Given the description of an element on the screen output the (x, y) to click on. 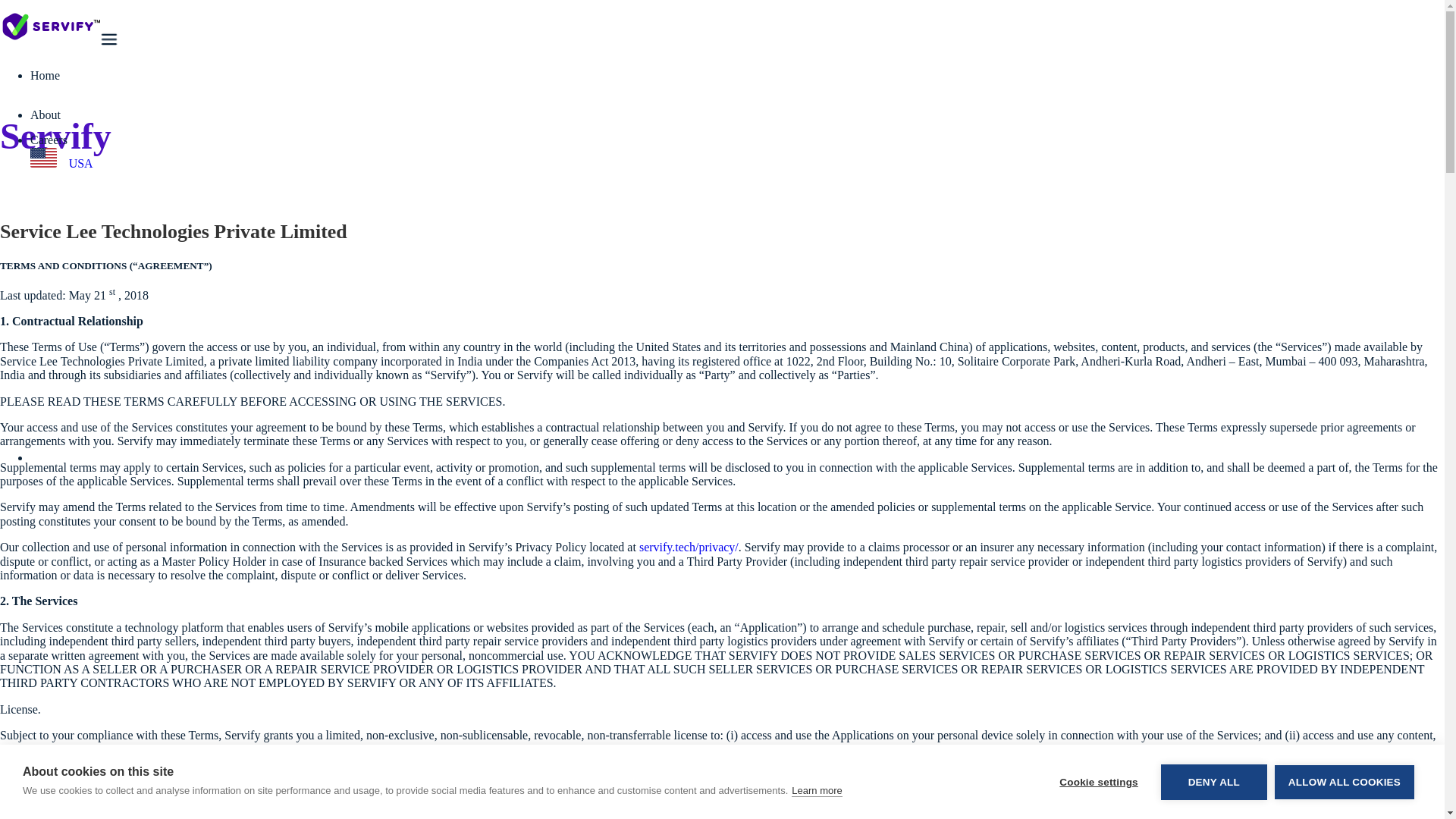
ALLOW ALL COOKIES (1344, 787)
About (47, 114)
Careers (48, 139)
Home (44, 74)
   USA (61, 159)
Learn more (816, 814)
Cookie settings (1098, 796)
DENY ALL (1213, 792)
